Given the description of an element on the screen output the (x, y) to click on. 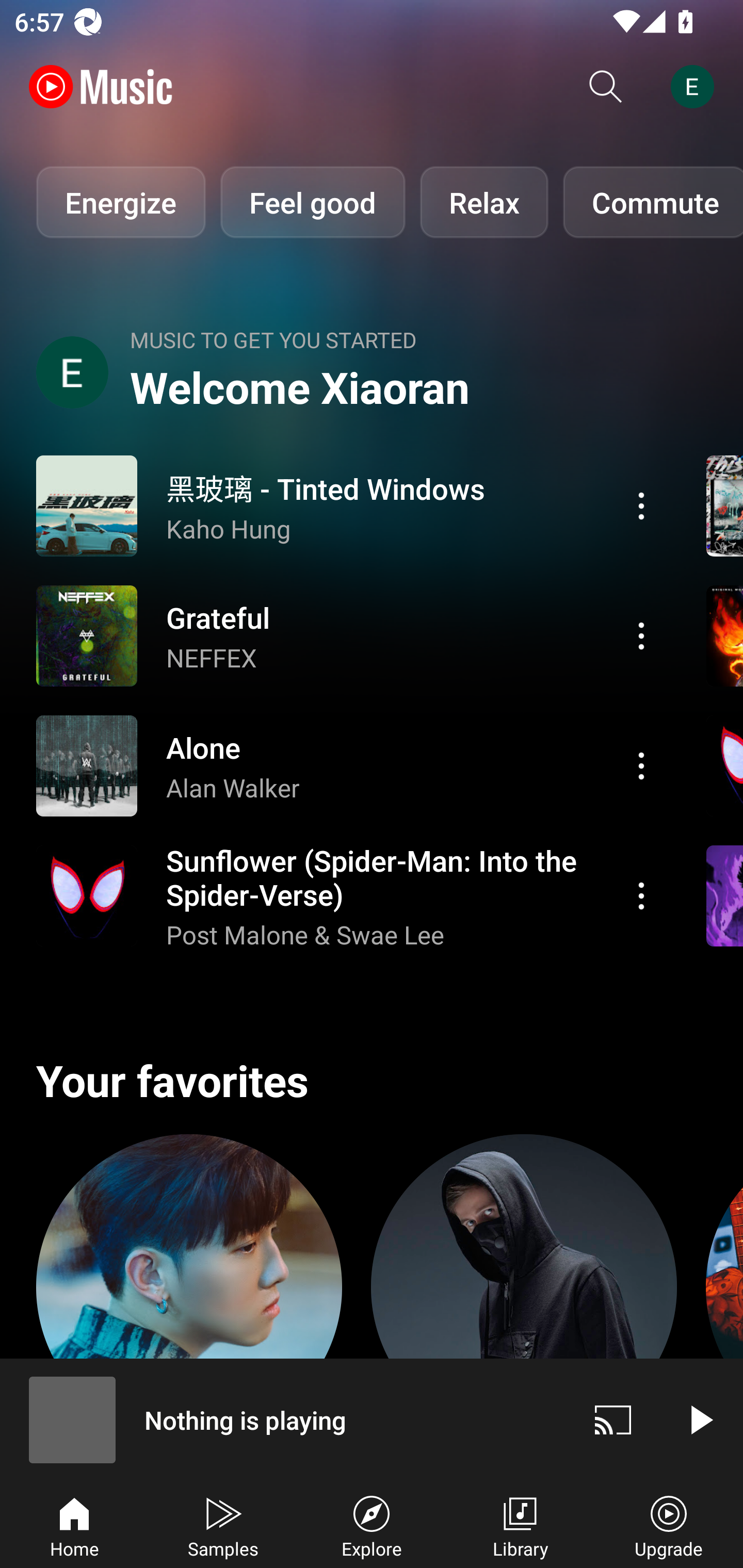
Search (605, 86)
Account (696, 86)
Action menu (349, 505)
Action menu (641, 505)
Action menu (349, 635)
Action menu (641, 635)
Action menu (349, 765)
Action menu (641, 765)
Action menu (349, 896)
Action menu (641, 896)
Nothing is playing (284, 1419)
Cast. Disconnected (612, 1419)
Play video (699, 1419)
Home (74, 1524)
Samples (222, 1524)
Explore (371, 1524)
Library (519, 1524)
Upgrade (668, 1524)
